Given the description of an element on the screen output the (x, y) to click on. 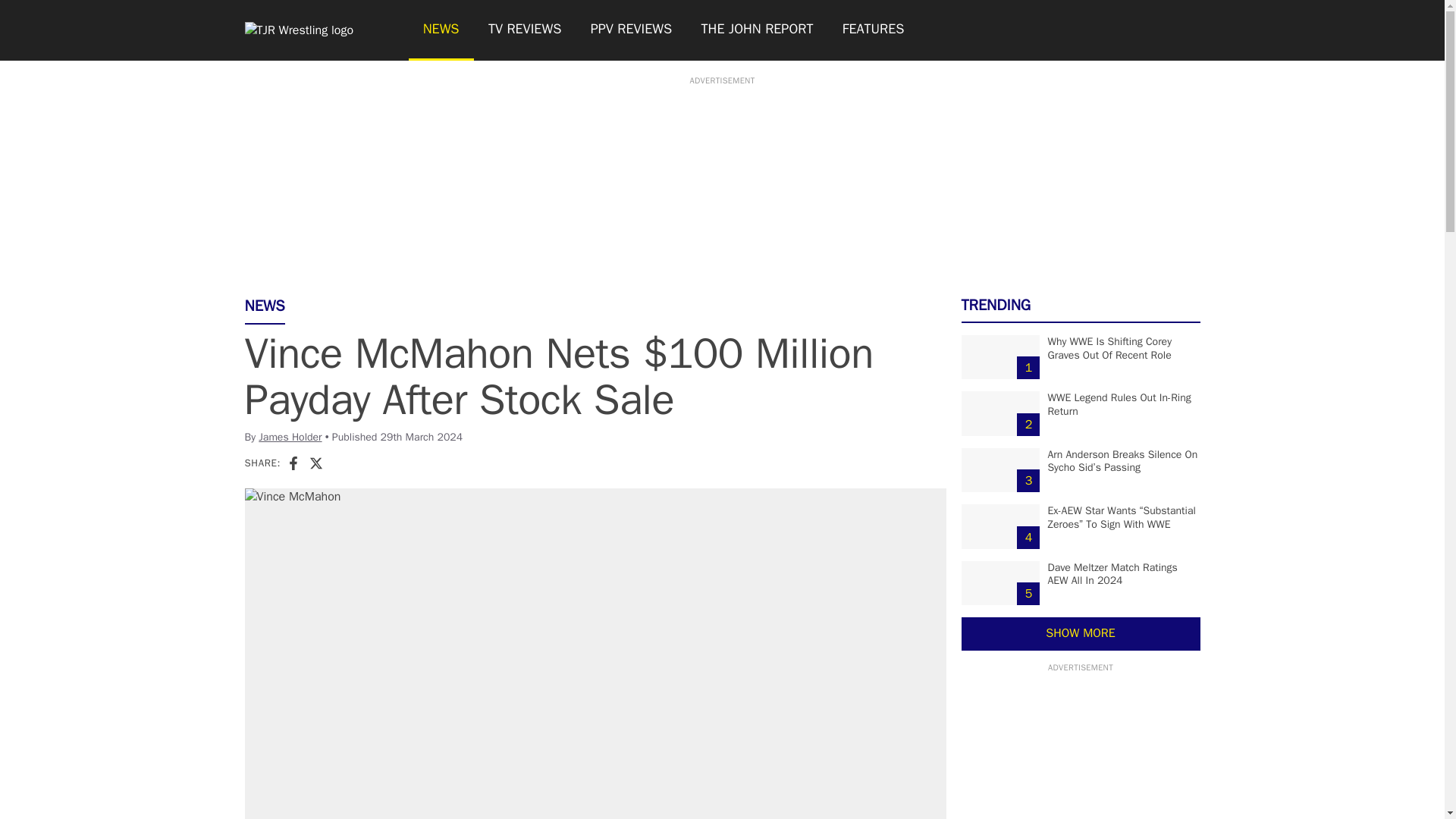
FEATURES (873, 30)
Facebook (292, 462)
NEWS (440, 30)
James Holder (290, 436)
TV REVIEWS (525, 30)
THE JOHN REPORT (756, 30)
Facebook (292, 463)
PPV REVIEWS (631, 30)
X (315, 463)
X (315, 462)
